Given the description of an element on the screen output the (x, y) to click on. 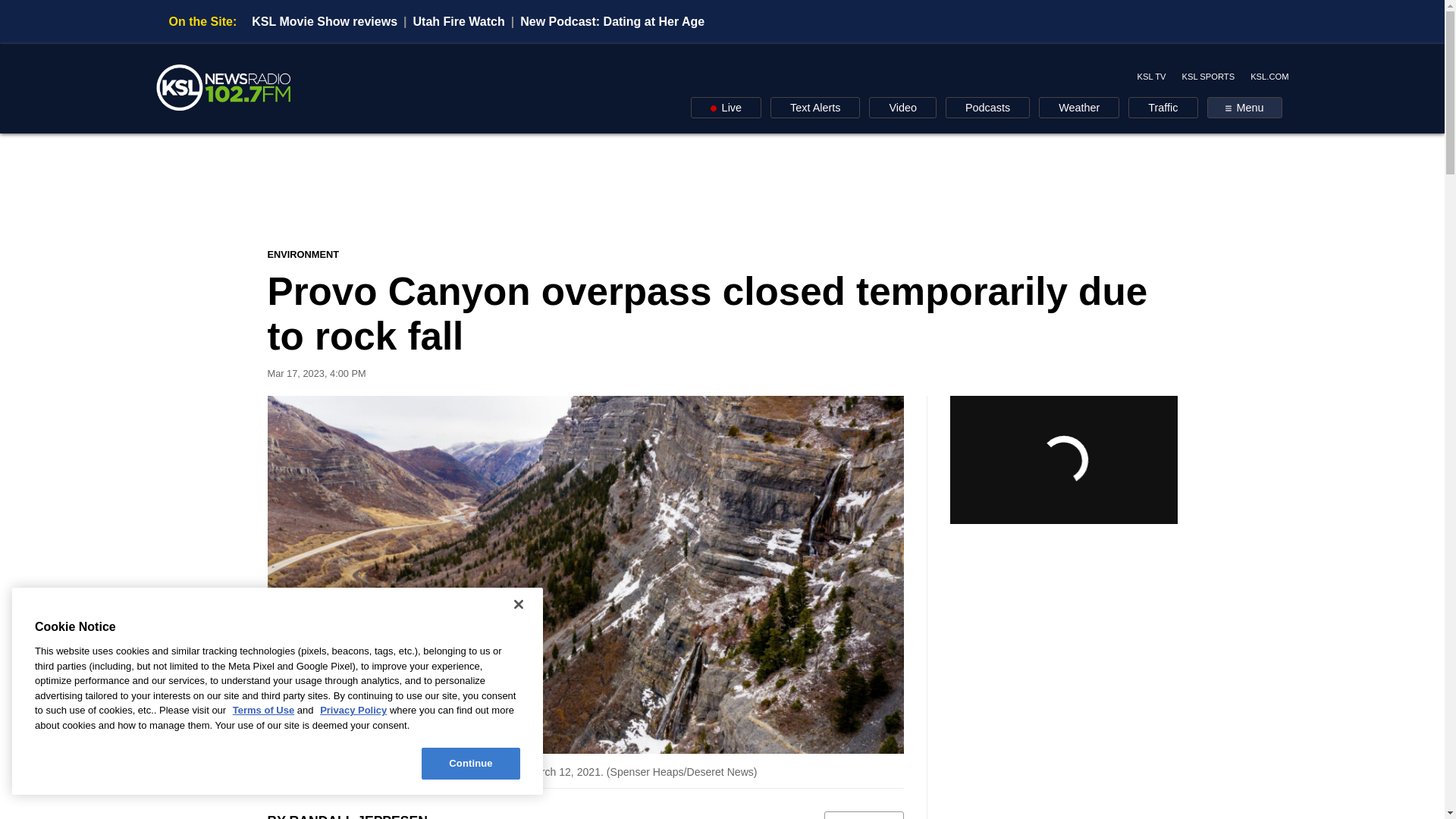
Utah Fire Watch (459, 21)
New Podcast: Dating at Her Age (611, 21)
KSL Movie Show reviews (324, 21)
